Given the description of an element on the screen output the (x, y) to click on. 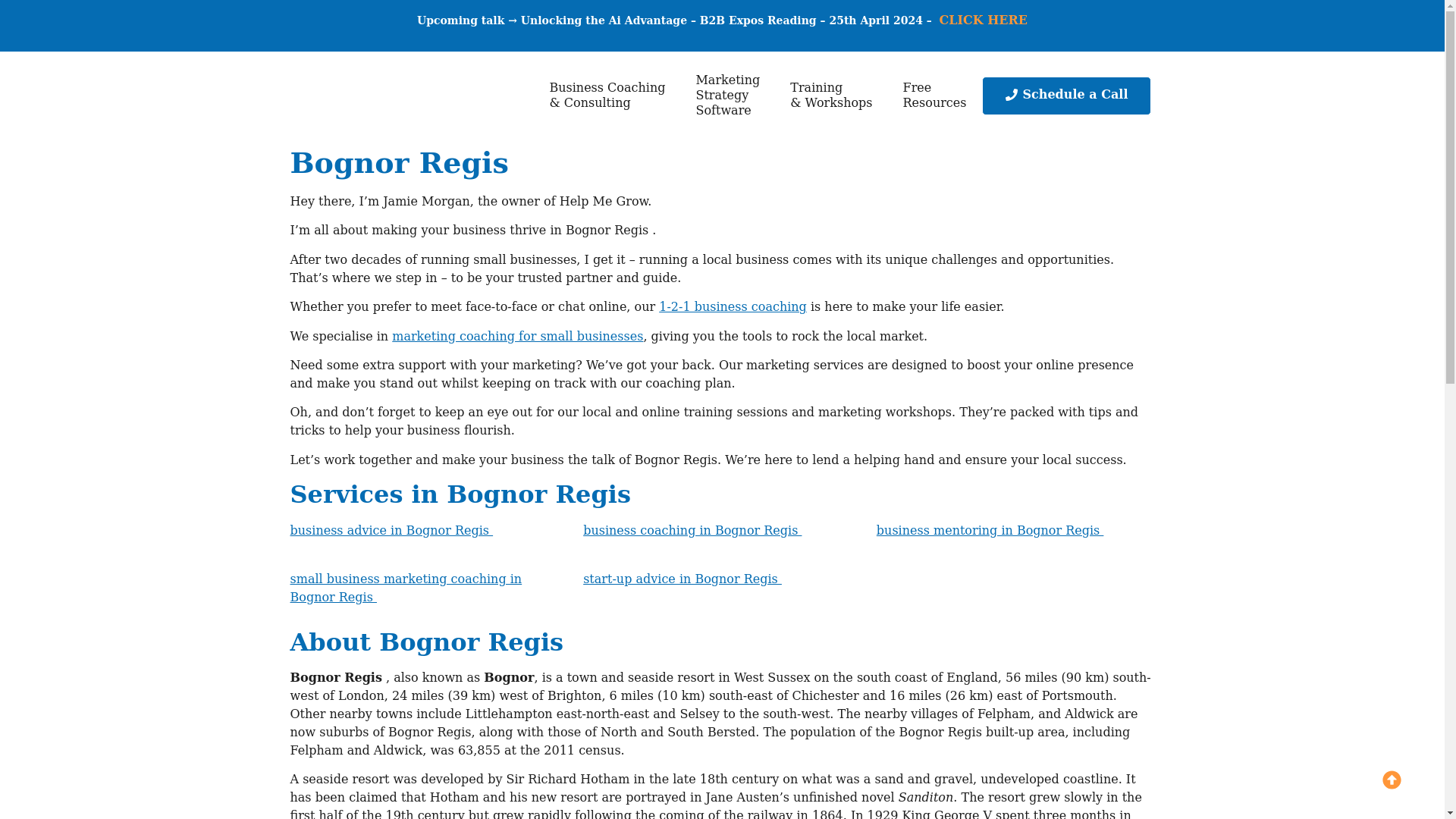
Schedule a Call (1066, 95)
business coaching in Bognor Regis  (934, 95)
CLICK HERE (692, 530)
business mentoring in Bognor Regis  (983, 20)
1-2-1 business coaching (989, 530)
small business marketing coaching in Bognor Regis  (726, 95)
